Given the description of an element on the screen output the (x, y) to click on. 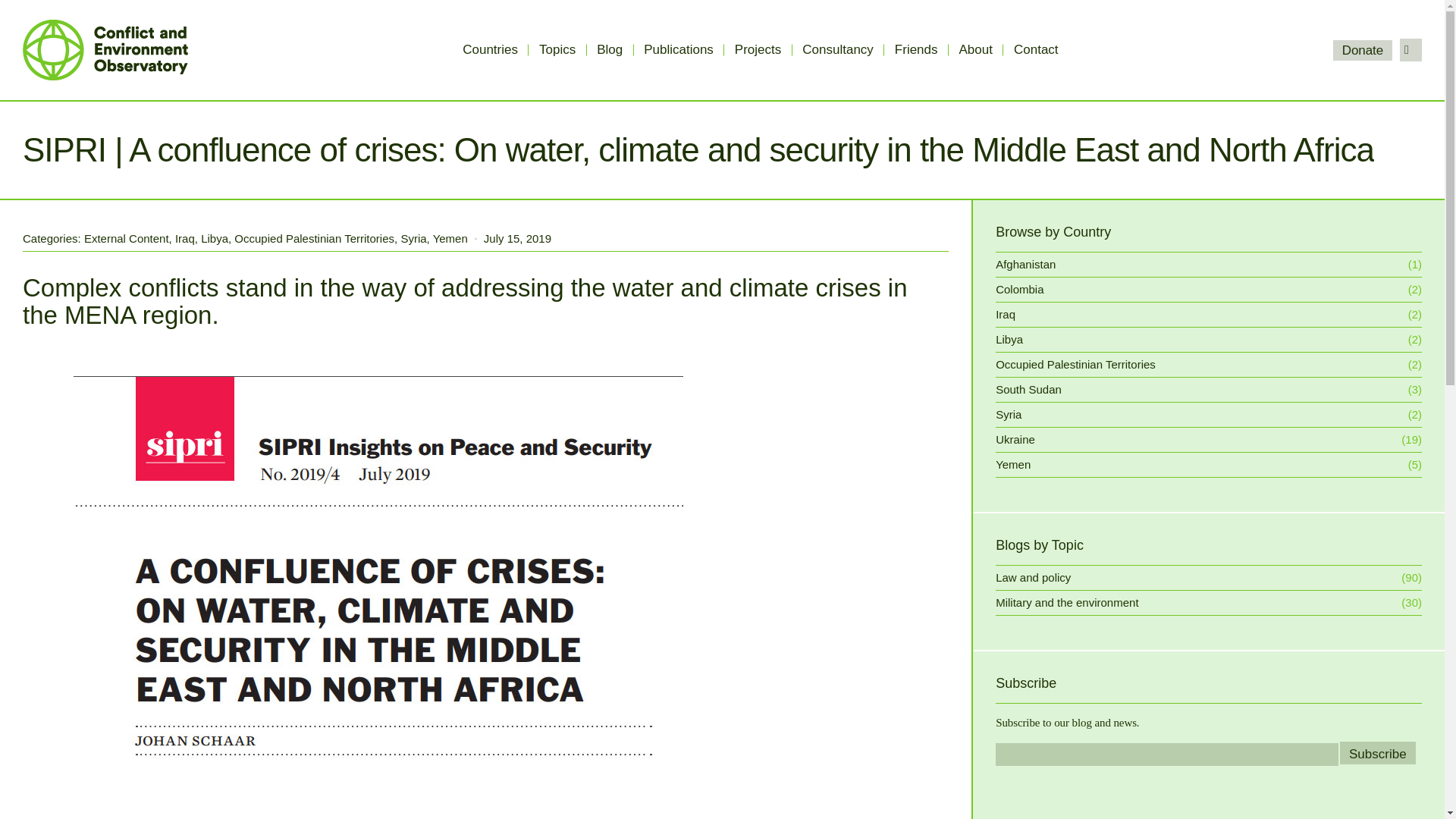
Subscribe (1377, 753)
Projects (758, 49)
Consultancy (837, 49)
3:27 pm (517, 238)
Topics (556, 49)
Publications (678, 49)
Friends (915, 49)
Countries (490, 49)
Donate (1362, 49)
Go! (19, 11)
Blog (610, 49)
Contact (1035, 49)
About (975, 49)
